Given the description of an element on the screen output the (x, y) to click on. 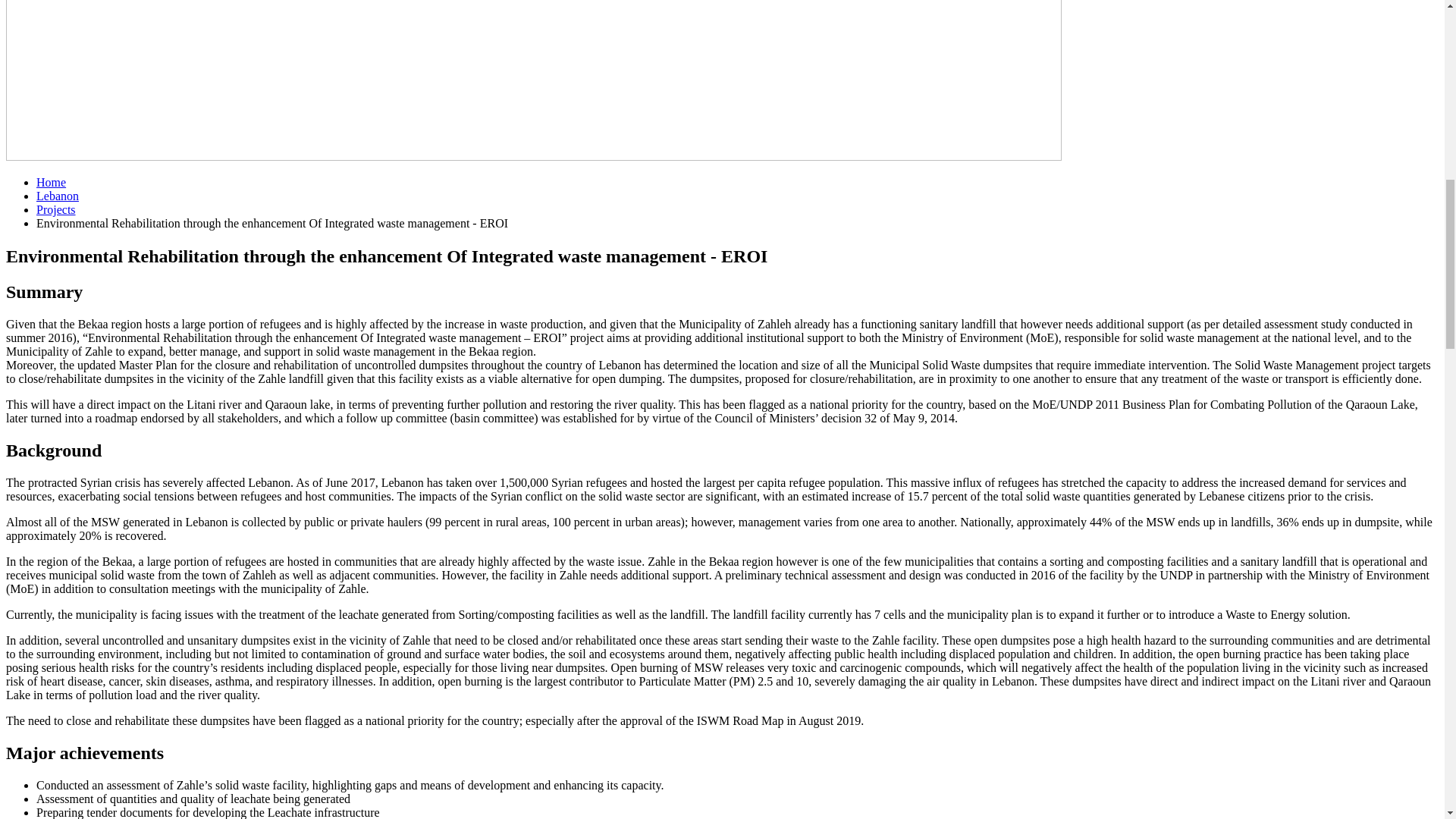
Lebanon (57, 195)
Projects (55, 209)
Home (50, 182)
